Given the description of an element on the screen output the (x, y) to click on. 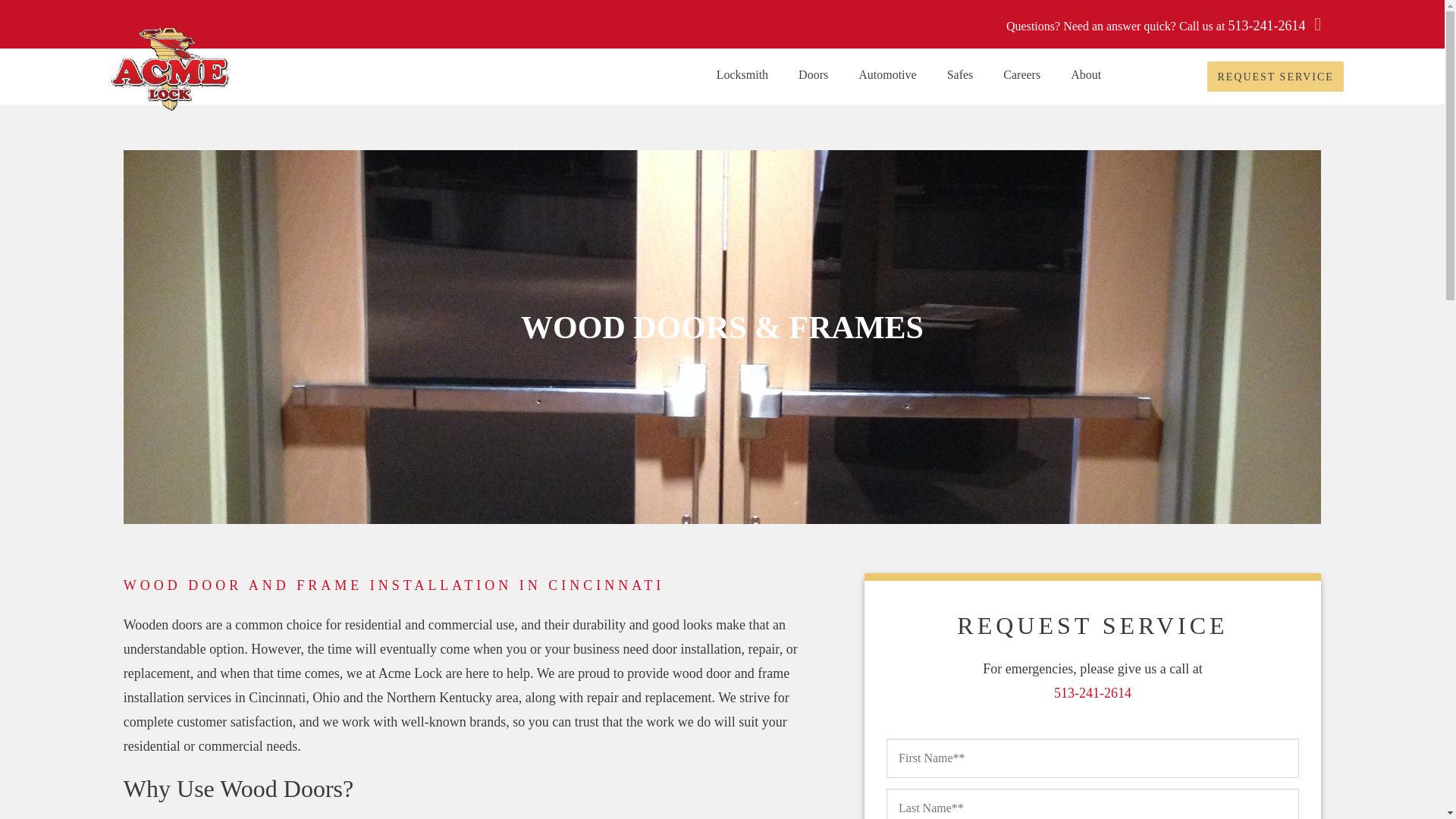
Locksmith (742, 74)
About (1085, 74)
REQUEST SERVICE (1275, 76)
Doors (813, 74)
Safes (959, 74)
513-241-2614 (1273, 25)
Careers (1021, 74)
Acme Lock and Door (170, 68)
Request Service (1275, 76)
Automotive (887, 74)
